Given the description of an element on the screen output the (x, y) to click on. 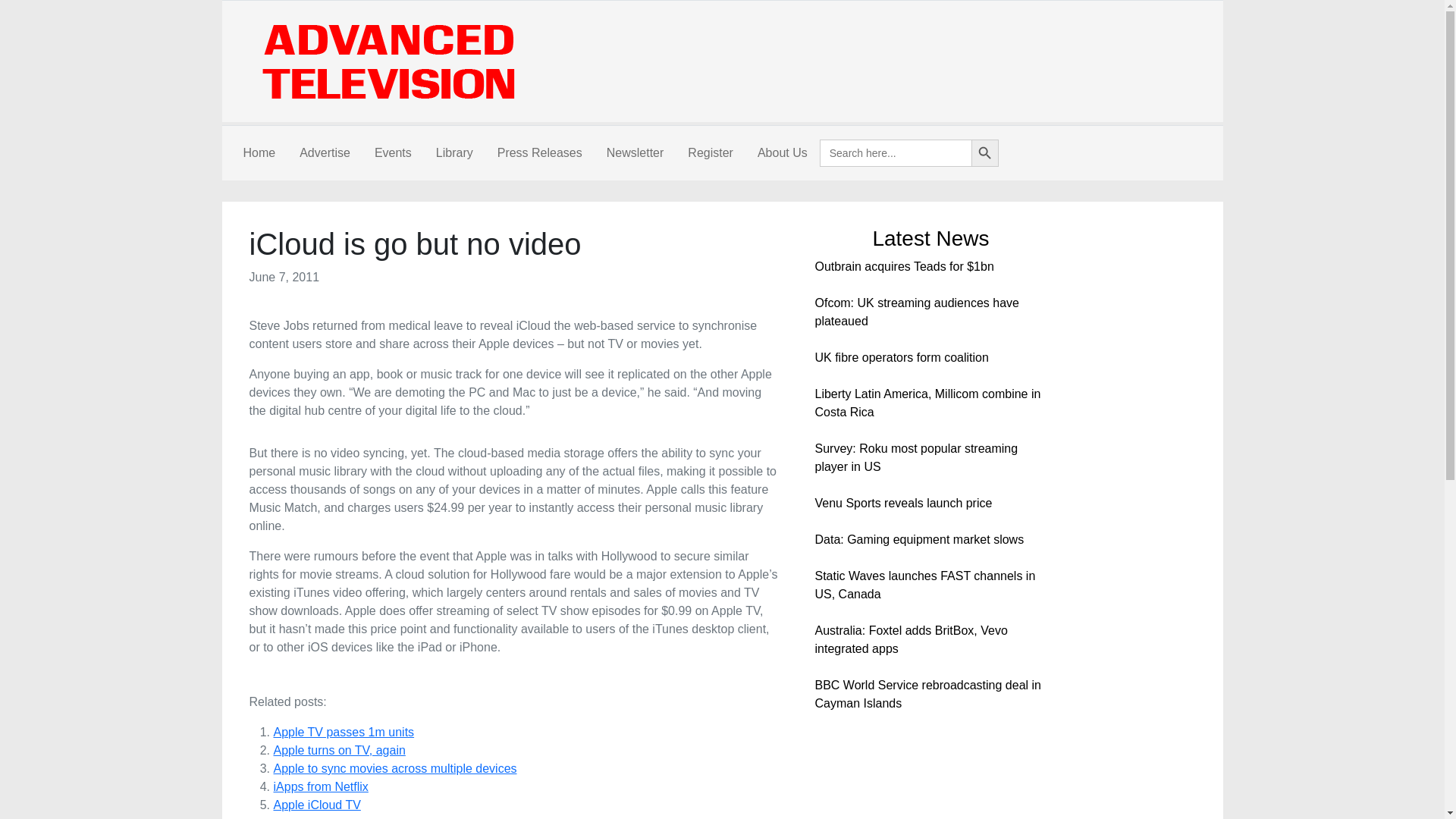
Newsletter (635, 153)
Apple to sync movies across multiple devices (394, 768)
Press Releases (539, 153)
Apple iCloud TV (316, 804)
Events (392, 153)
Apple to sync movies across multiple devices (394, 768)
Apple turns on TV, again (338, 749)
Liberty Latin America, Millicom combine in Costa Rica (927, 402)
About Us (782, 153)
Apple TV passes 1m units (343, 731)
Australia: Foxtel adds BritBox, Vevo integrated apps (910, 639)
Advertise (324, 153)
Apple TV passes 1m units (343, 731)
Ofcom: UK streaming audiences have plateaued (915, 311)
Venu Sports reveals launch price (902, 502)
